Given the description of an element on the screen output the (x, y) to click on. 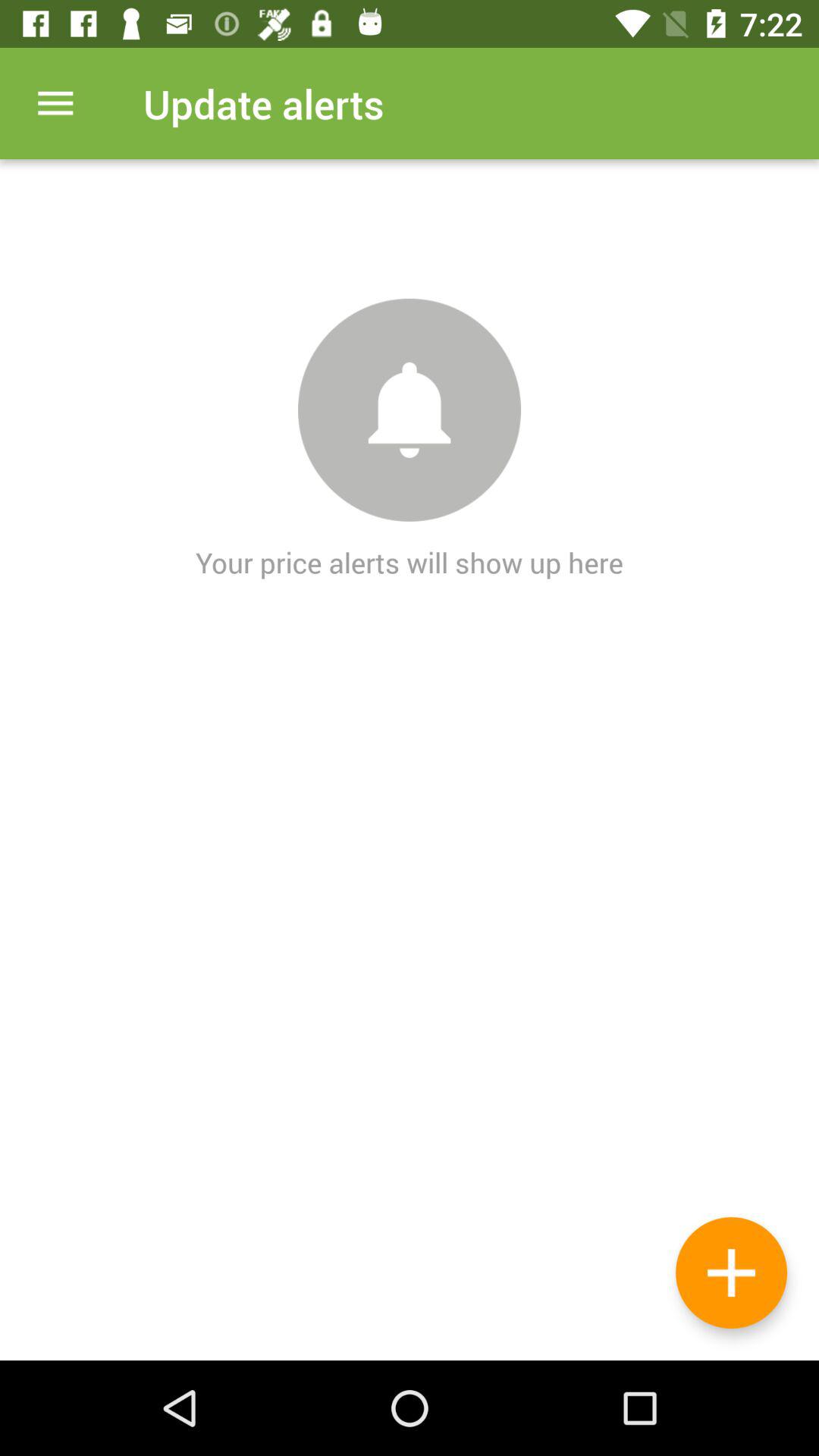
display menu options (55, 103)
